Given the description of an element on the screen output the (x, y) to click on. 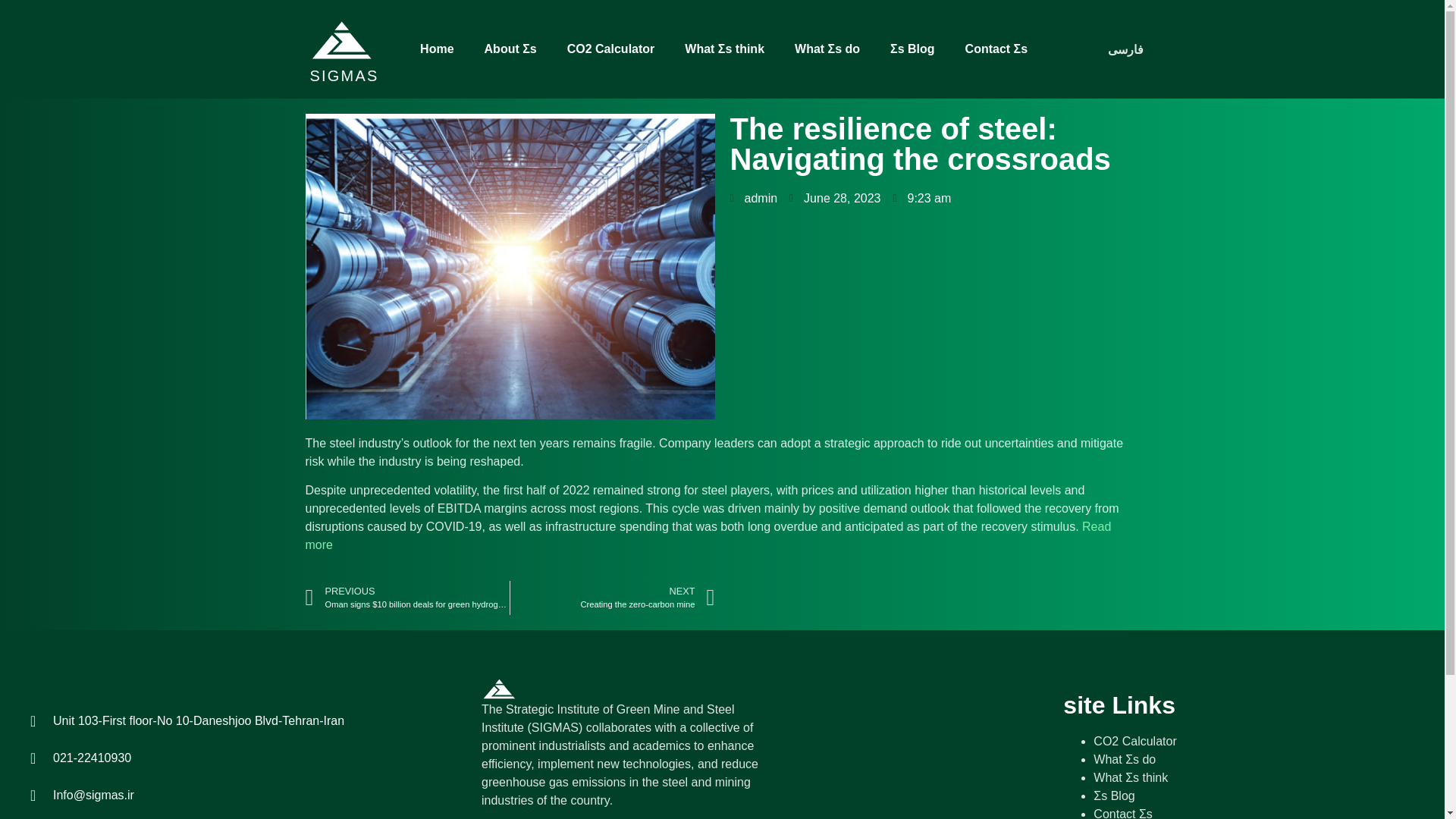
CO2 Calculator (612, 597)
admin (66, 49)
Read more (753, 198)
CO2 Calculator (707, 535)
June 28, 2023 (1134, 740)
SIGMAS (834, 198)
